Given the description of an element on the screen output the (x, y) to click on. 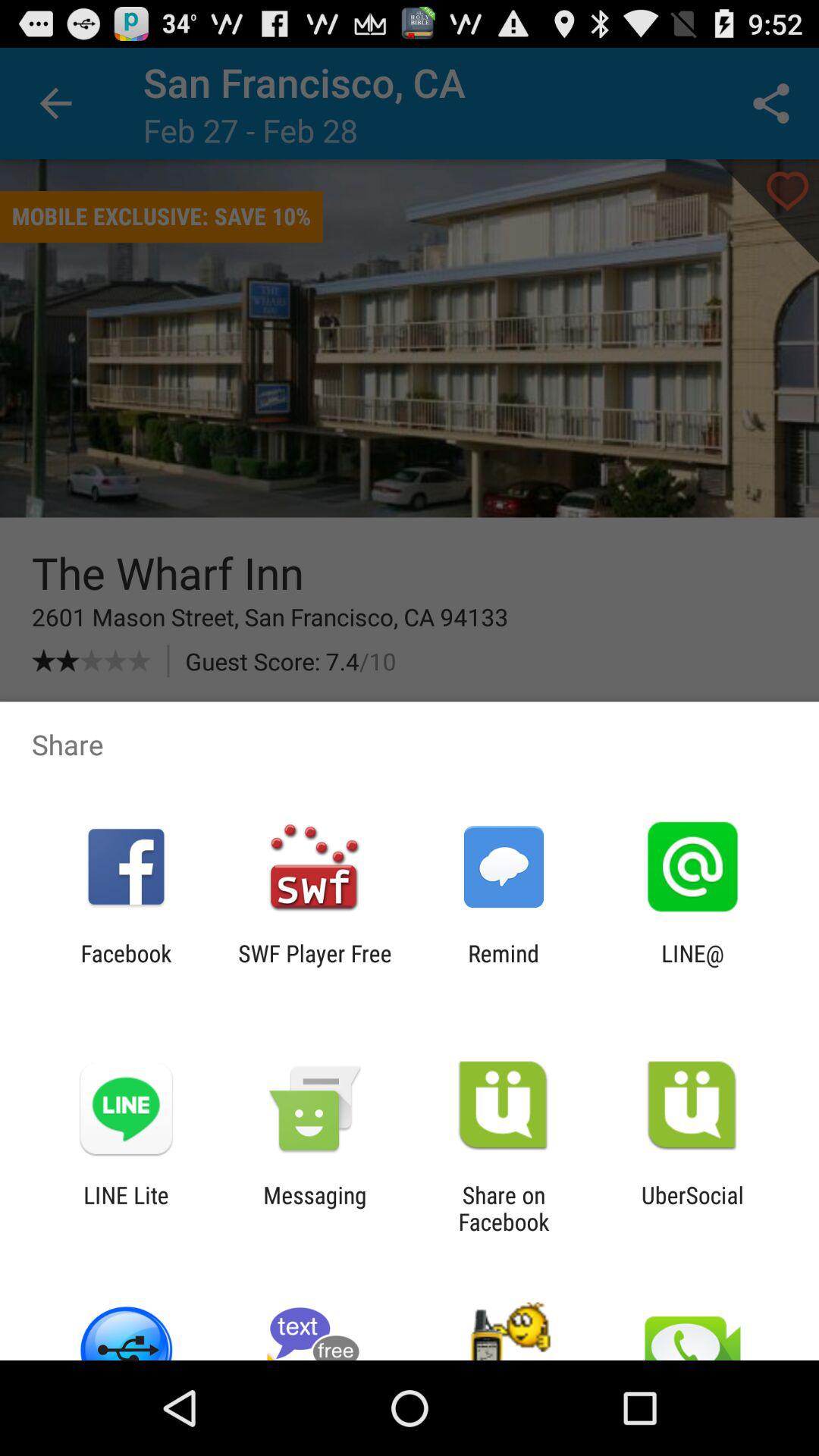
click line lite icon (125, 1208)
